Given the description of an element on the screen output the (x, y) to click on. 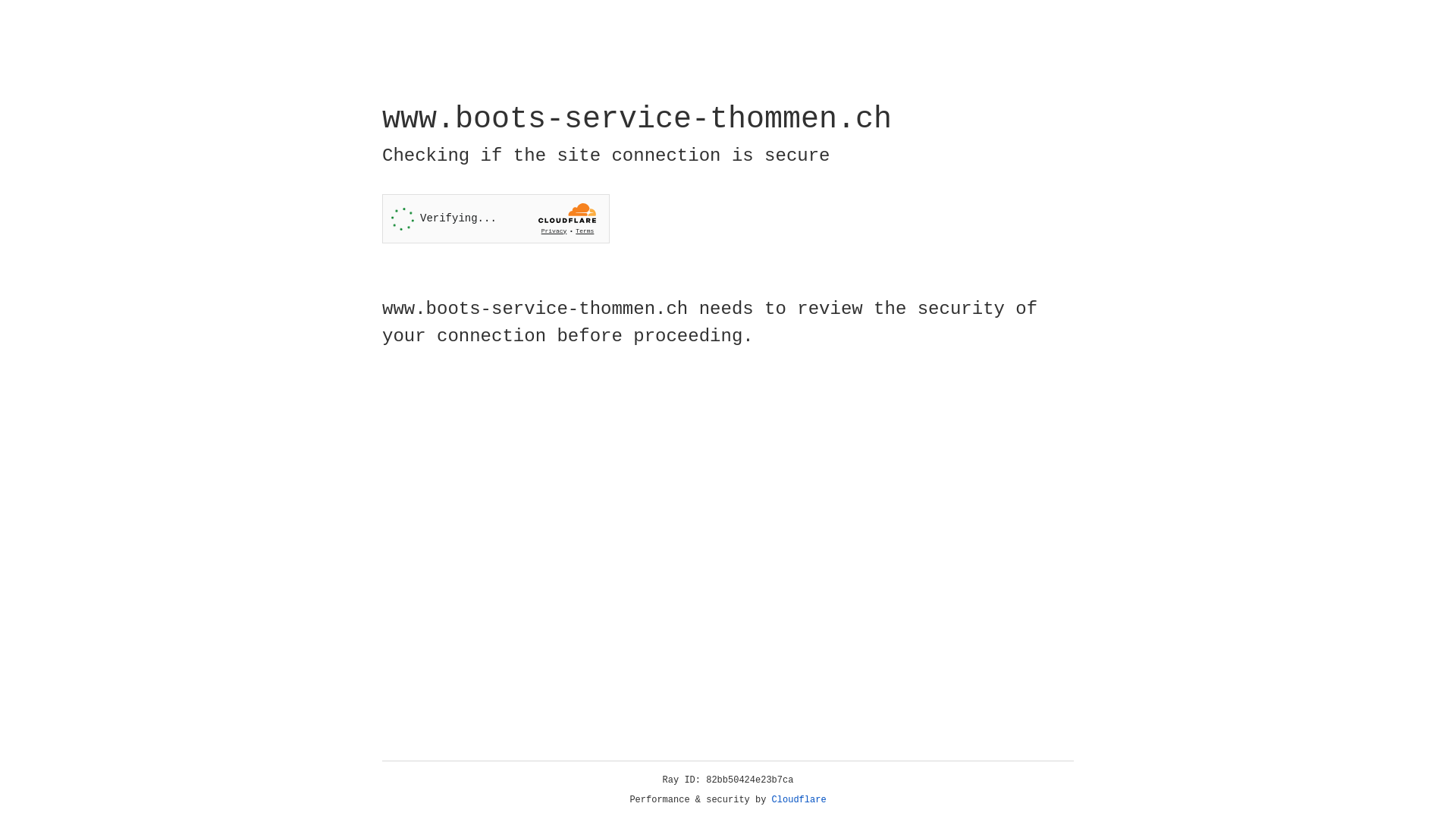
Widget containing a Cloudflare security challenge Element type: hover (495, 218)
Cloudflare Element type: text (798, 799)
